Given the description of an element on the screen output the (x, y) to click on. 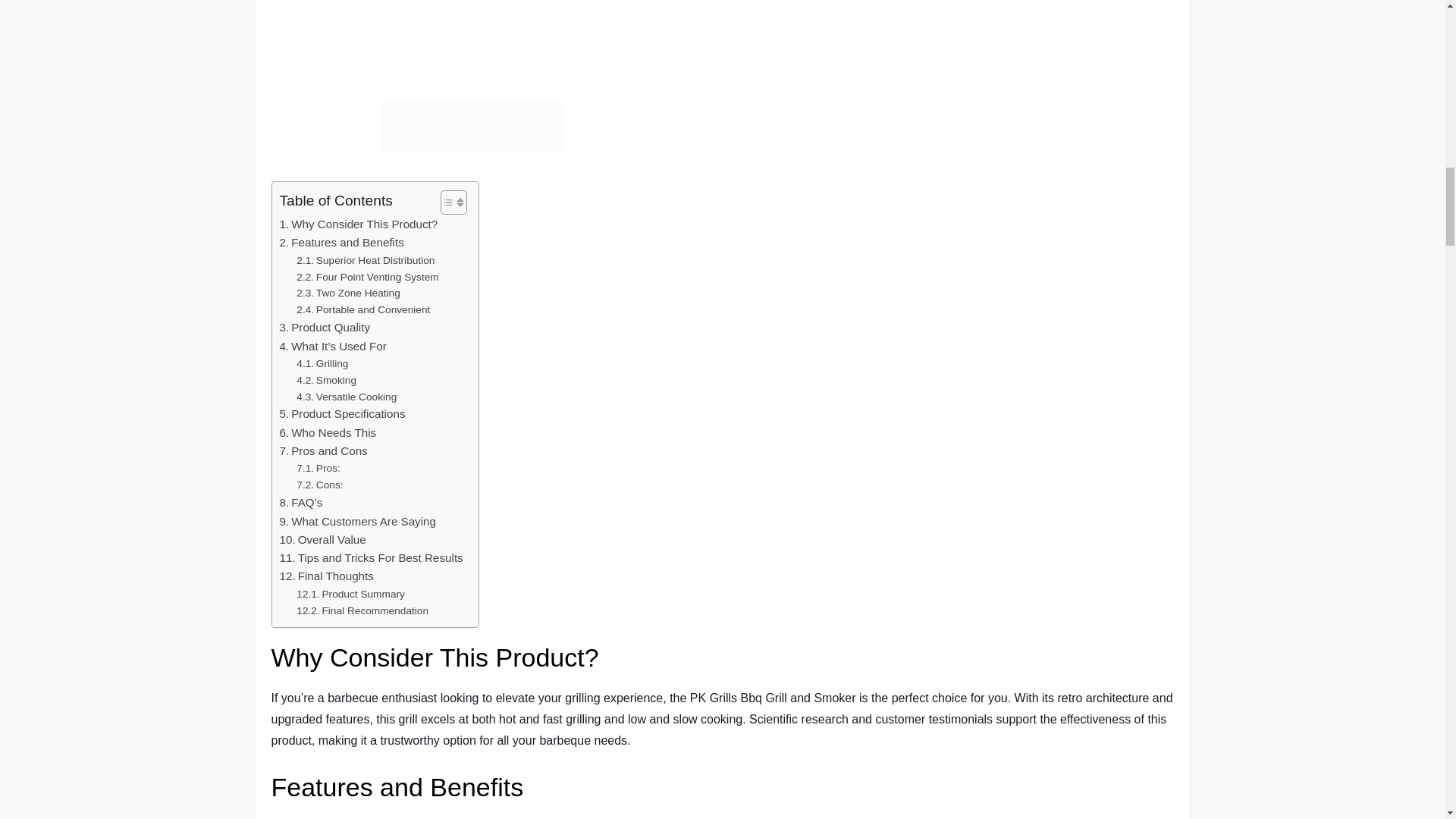
Pros and Cons (322, 451)
Product Quality (324, 327)
Four Point Venting System (367, 277)
Two Zone Heating (348, 293)
Product Specifications (341, 413)
Grilling (322, 363)
Superior Heat Distribution (365, 260)
Grilling (322, 363)
Cons: (319, 484)
Four Point Venting System (367, 277)
Versatile Cooking (346, 397)
Portable and Convenient (363, 310)
Two Zone Heating (348, 293)
Who Needs This (327, 433)
Product Quality (324, 327)
